Given the description of an element on the screen output the (x, y) to click on. 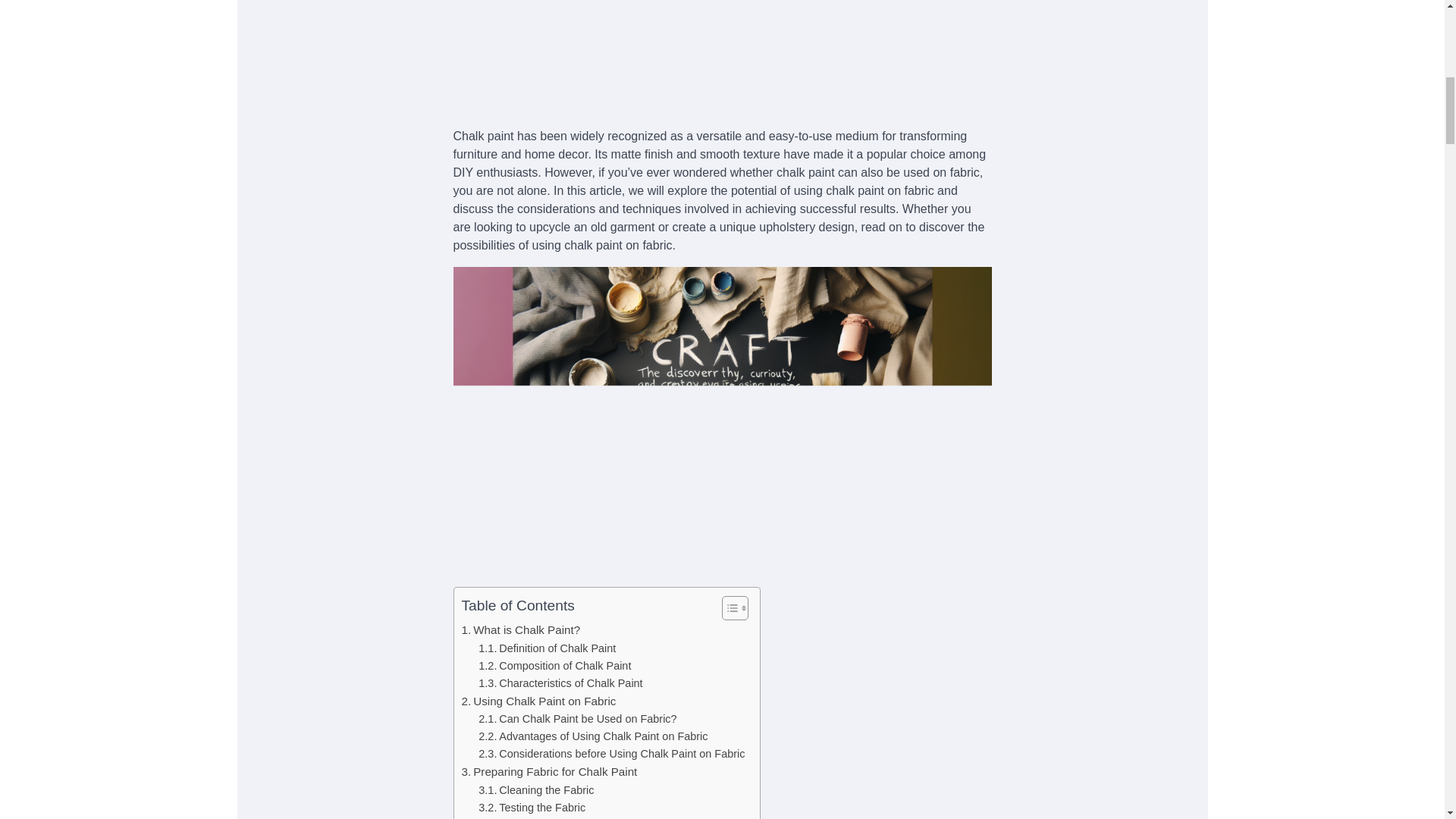
Cleaning the Fabric (536, 790)
Definition of Chalk Paint (547, 648)
Composition of Chalk Paint (554, 665)
Testing the Fabric (532, 807)
What is Chalk Paint? (520, 629)
Can Chalk Paint be Used on Fabric? (578, 719)
Preparing Fabric for Chalk Paint (549, 771)
Characteristics of Chalk Paint (560, 683)
Considerations before Using Chalk Paint on Fabric (611, 753)
